Given the description of an element on the screen output the (x, y) to click on. 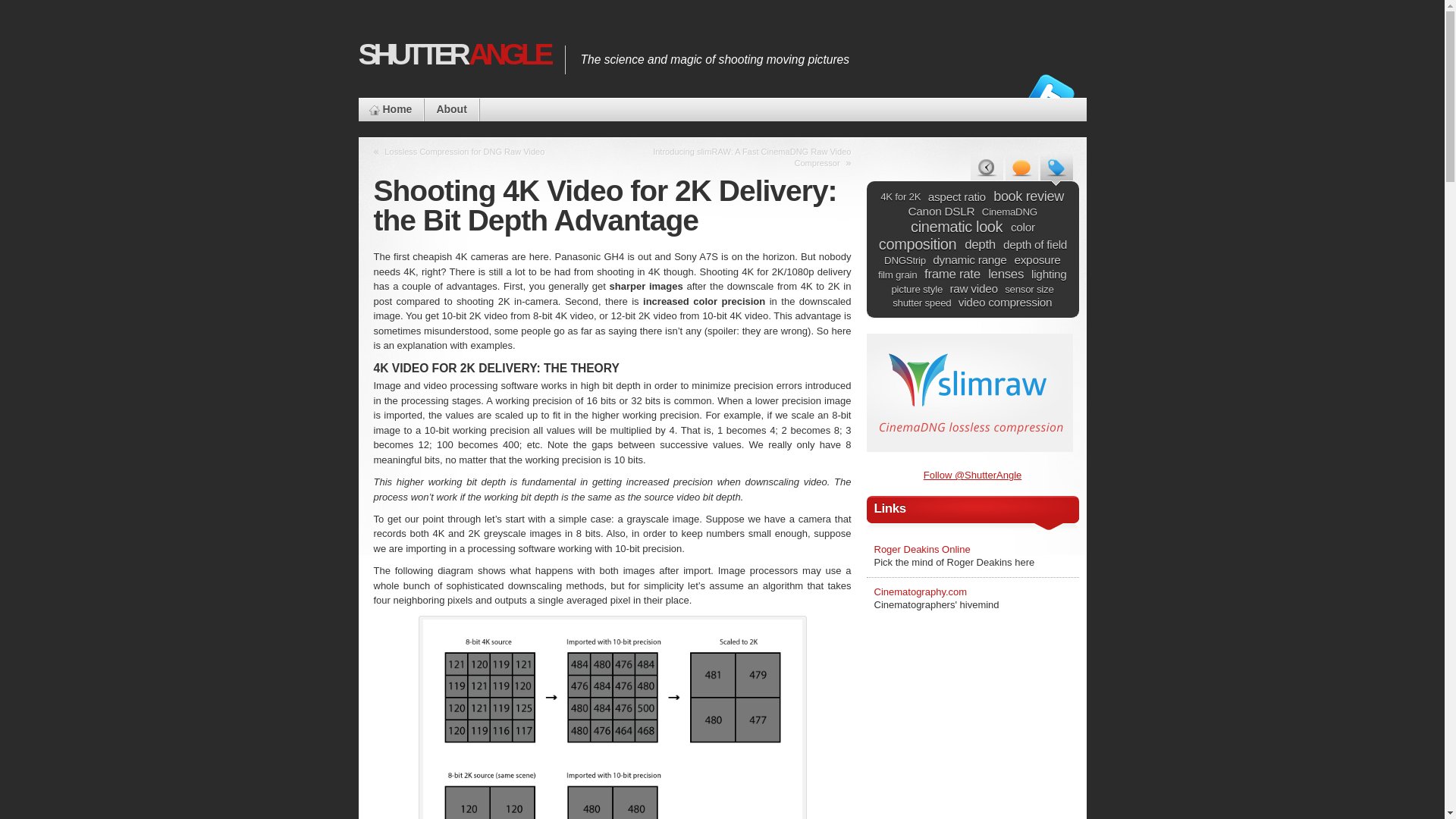
Follow on Twitter (1050, 97)
Home (390, 109)
Recent Posts (987, 169)
Home Page (390, 109)
Recent Comments (1022, 169)
SHUTTER ANGLE (453, 54)
Lossless Compression for DNG Raw Video (464, 151)
Introducing slimRAW: A Fast CinemaDNG Raw Video Compressor (749, 156)
Cancel reply (36, 11)
About (451, 109)
